Given the description of an element on the screen output the (x, y) to click on. 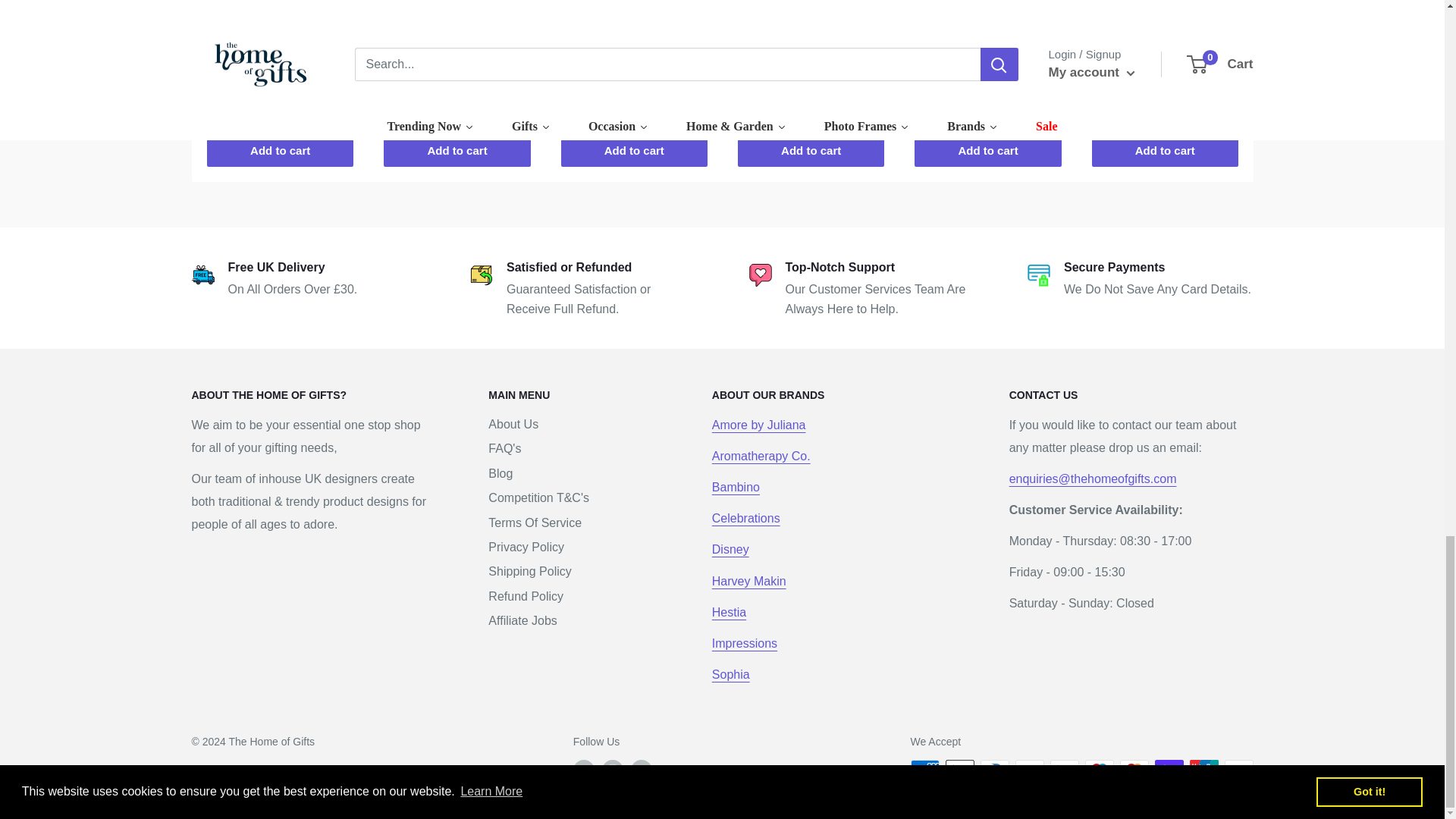
The Aromatherapy Co (760, 455)
